Given the description of an element on the screen output the (x, y) to click on. 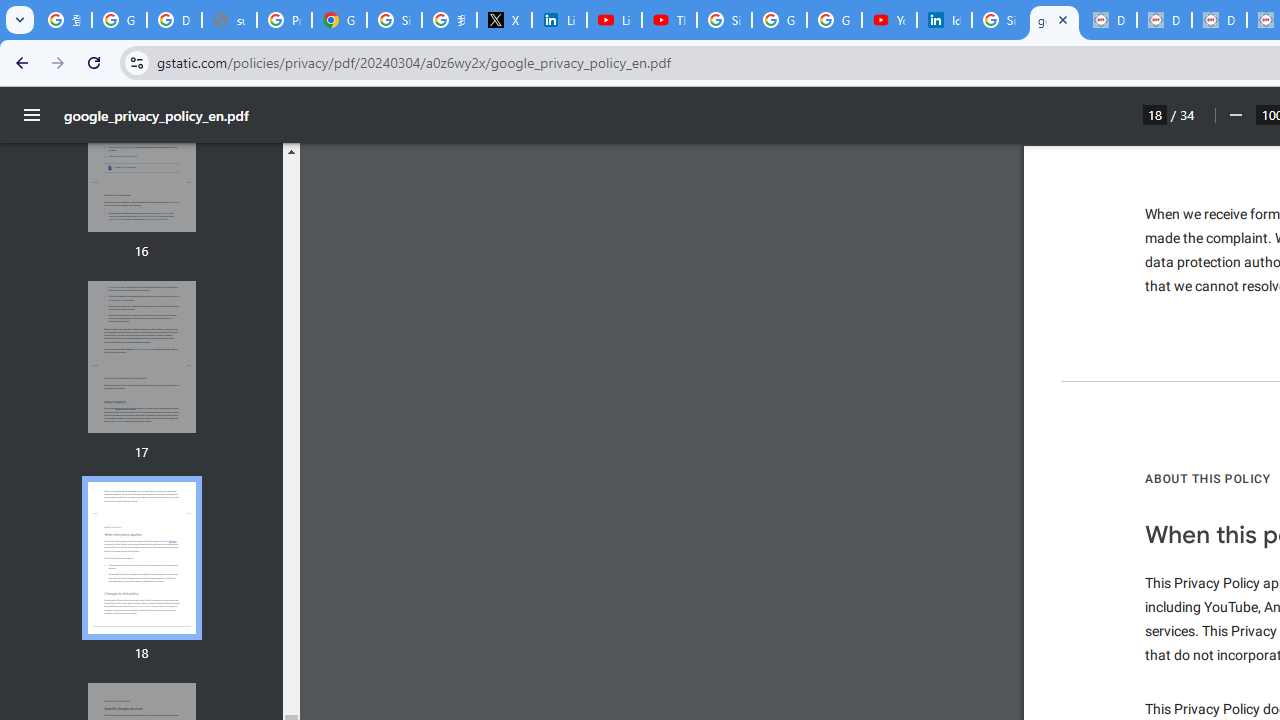
Page number (1155, 114)
Zoom out (1234, 115)
AutomationID: thumbnail (141, 557)
